Given the description of an element on the screen output the (x, y) to click on. 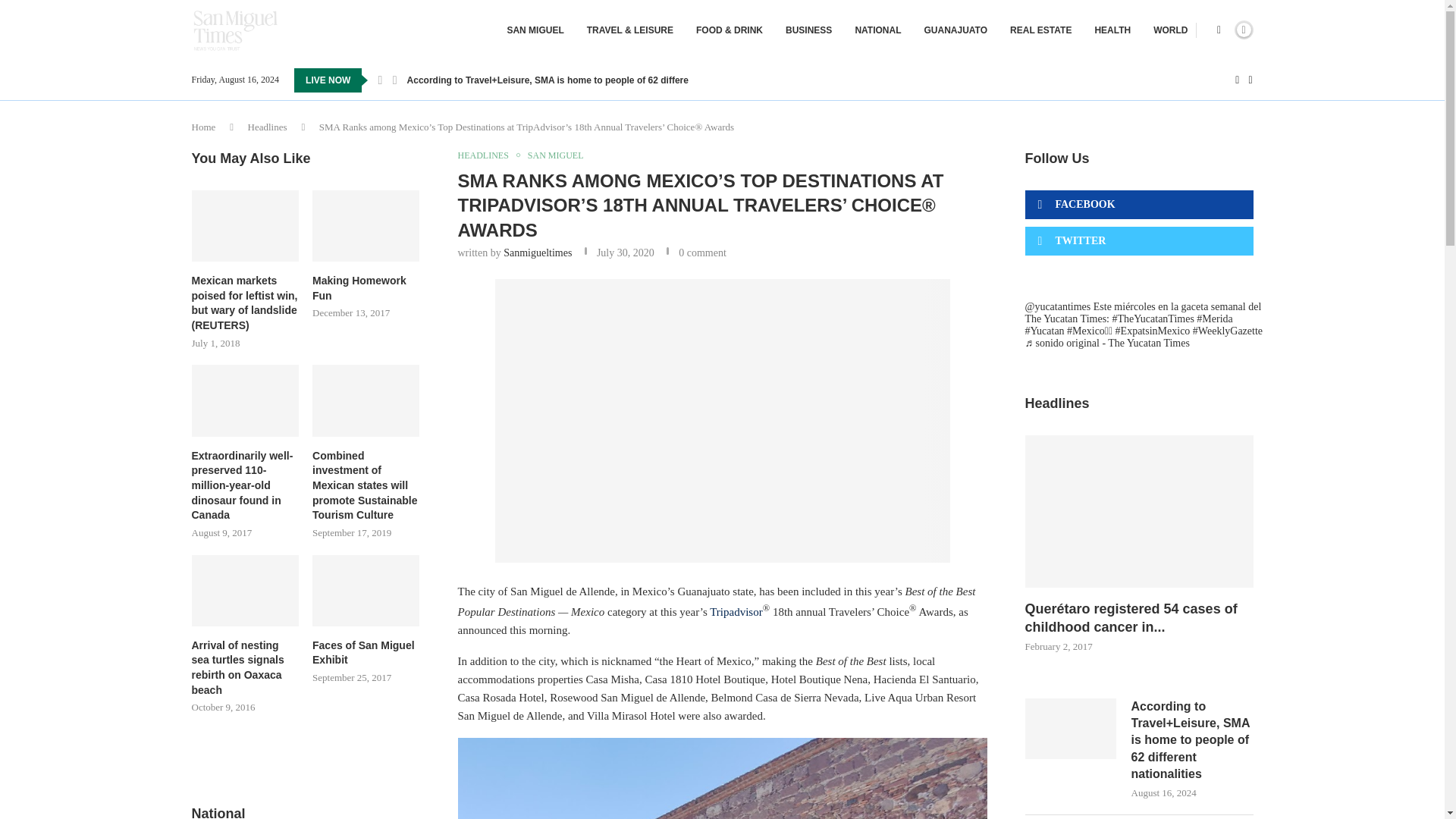
REAL ESTATE (1040, 30)
SAN MIGUEL (534, 30)
GUANAJUATO (955, 30)
NATIONAL (877, 30)
San Miguel de Allende (722, 420)
BUSINESS (808, 30)
